Given the description of an element on the screen output the (x, y) to click on. 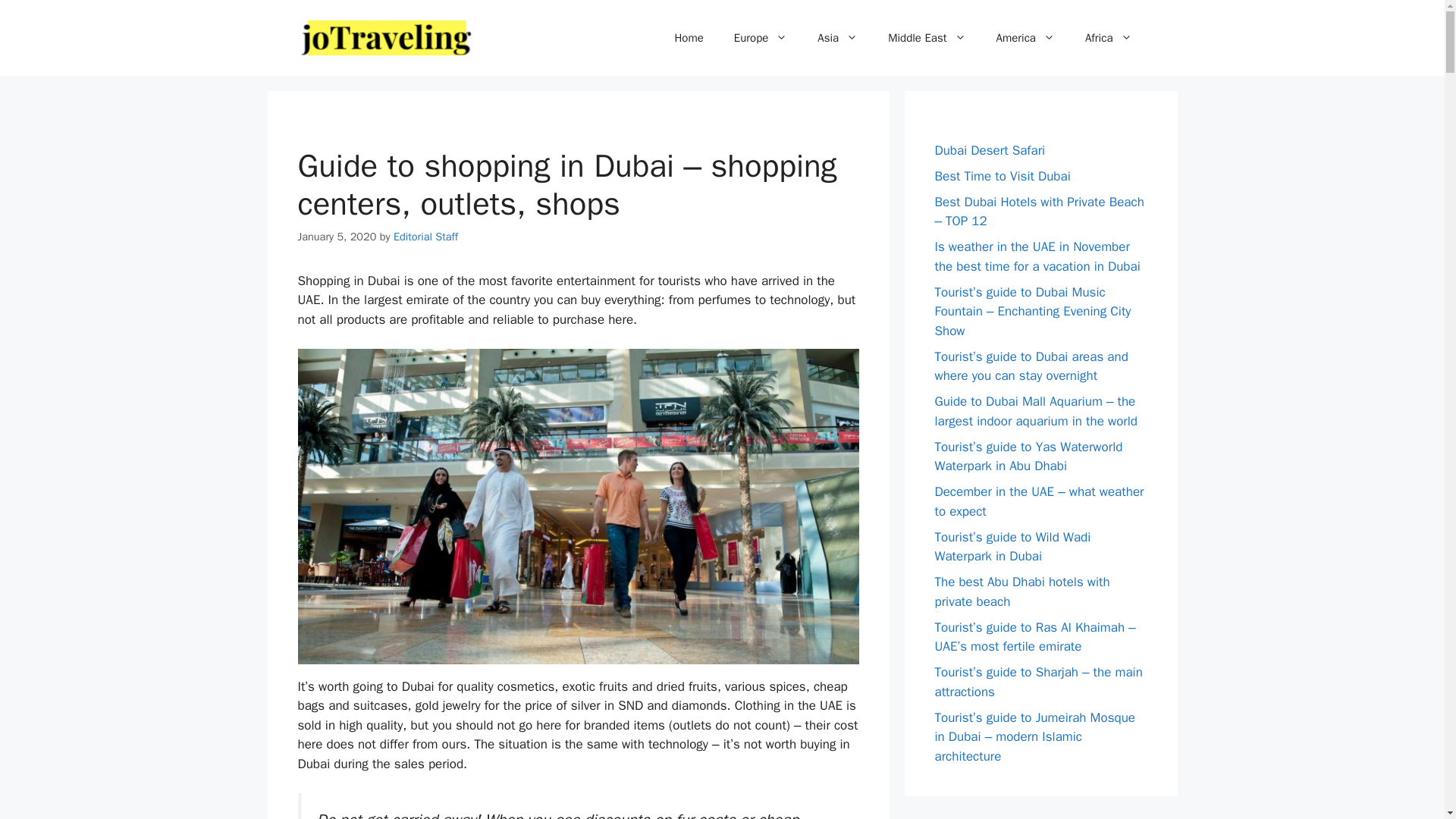
Joys of Traveling (384, 36)
Africa (1108, 37)
View all posts by Editorial Staff (425, 236)
Middle East (925, 37)
Asia (837, 37)
Europe (761, 37)
Joys of Traveling (384, 37)
America (1025, 37)
Editorial Staff (425, 236)
